Given the description of an element on the screen output the (x, y) to click on. 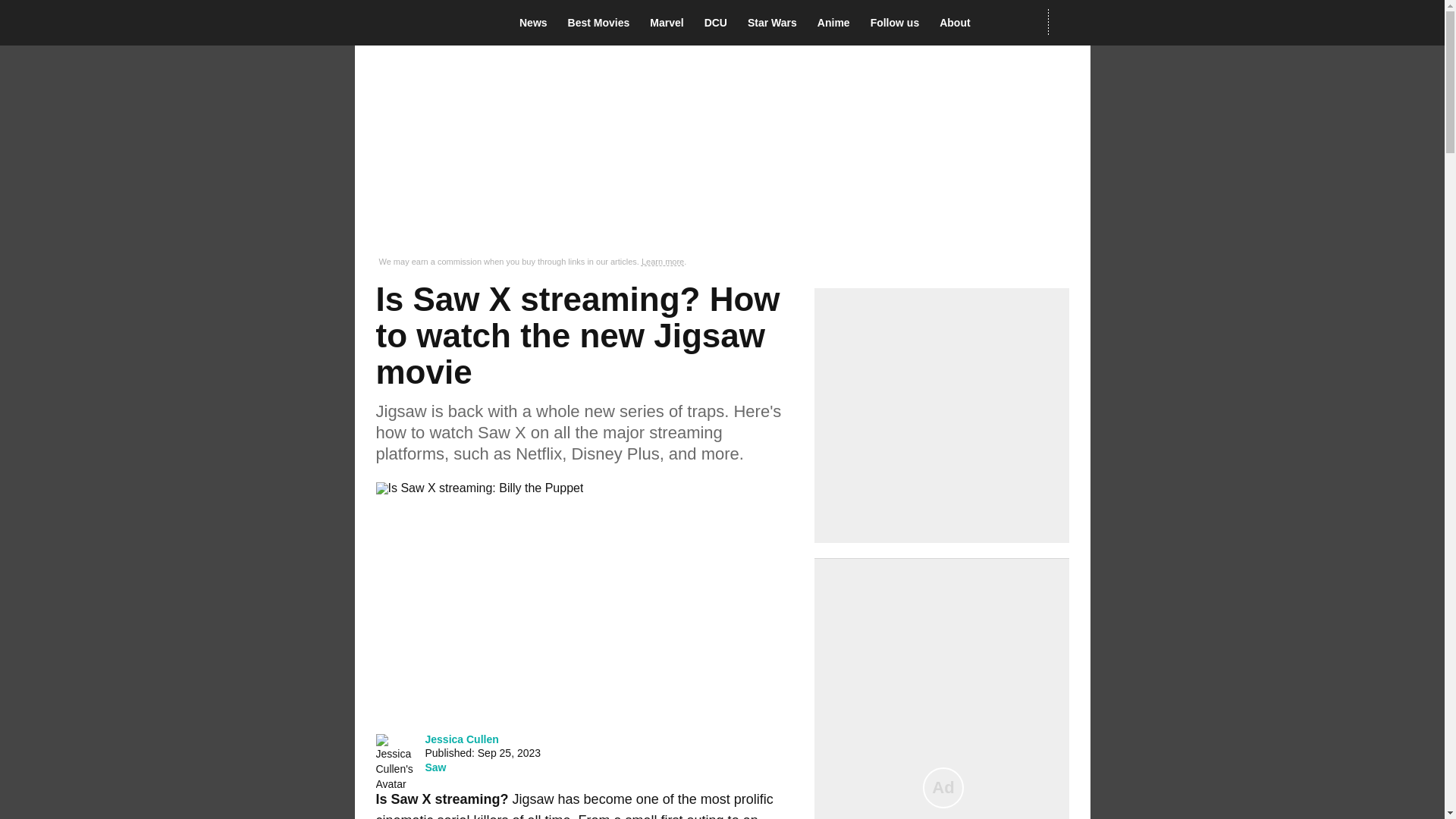
Anime (837, 22)
Marvel Cinematic Universe News (671, 22)
Follow us (899, 22)
Star Wars (777, 22)
Marvel (671, 22)
Learn more (663, 261)
Saw (435, 767)
Network N Media (1068, 22)
Star Wars News (777, 22)
Jessica Cullen (461, 739)
